Given the description of an element on the screen output the (x, y) to click on. 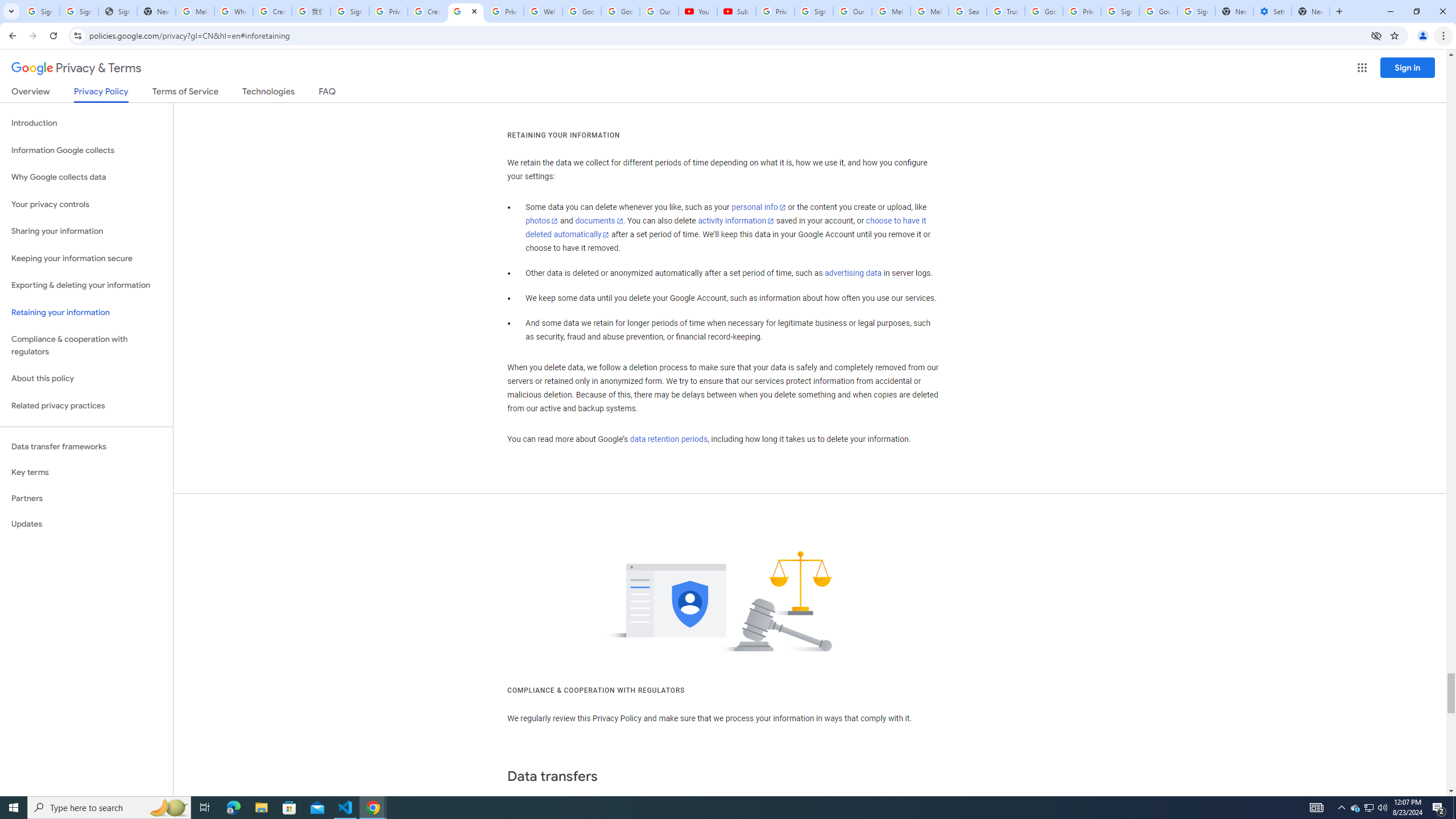
Privacy Policy (100, 94)
Google apps (1362, 67)
photos (542, 221)
Terms of Service (184, 93)
Data transfer frameworks (86, 446)
